Given the description of an element on the screen output the (x, y) to click on. 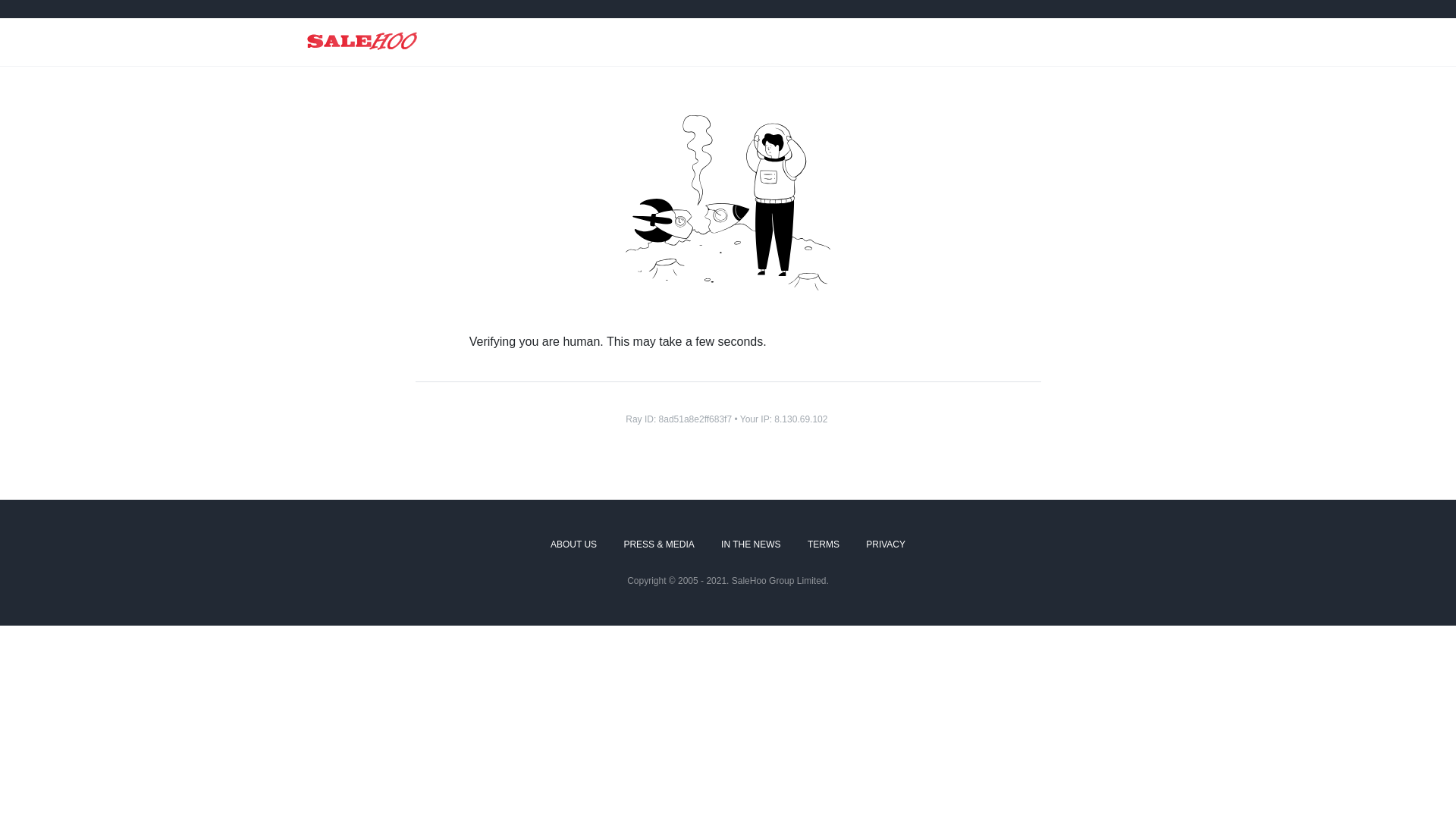
ABOUT US (573, 545)
TERMS (824, 545)
PRIVACY (885, 545)
IN THE NEWS (750, 545)
